Given the description of an element on the screen output the (x, y) to click on. 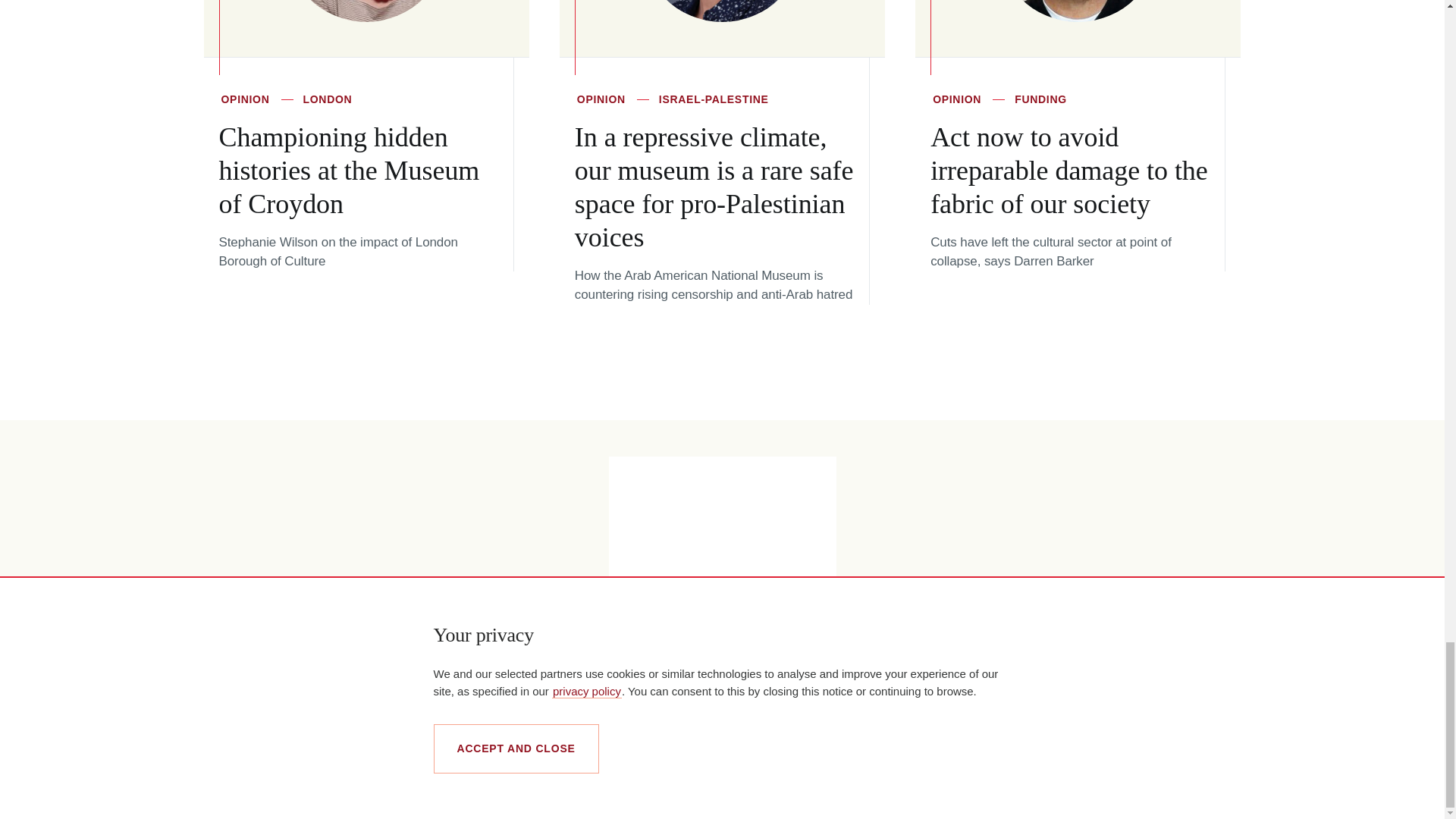
LinkedIn (1146, 791)
Instagram (1217, 791)
Twitter (1189, 791)
Facebook (1167, 791)
